Given the description of an element on the screen output the (x, y) to click on. 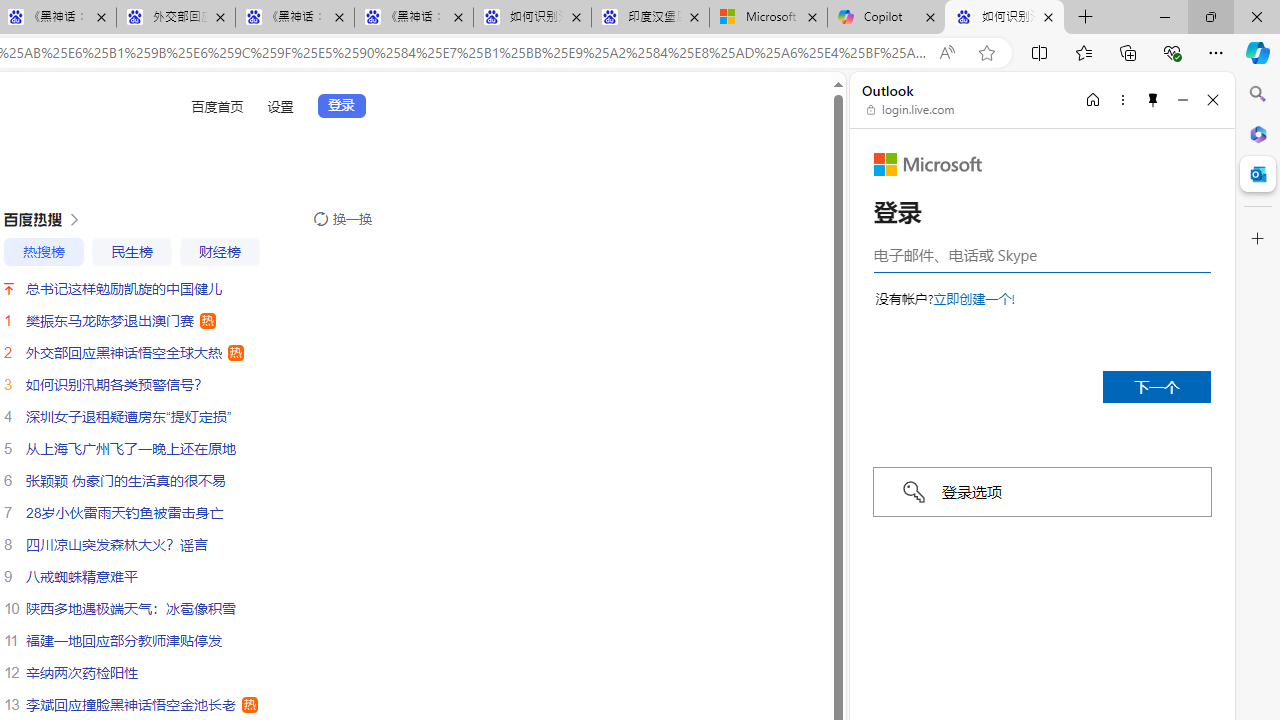
login.live.com (911, 110)
